Given the description of an element on the screen output the (x, y) to click on. 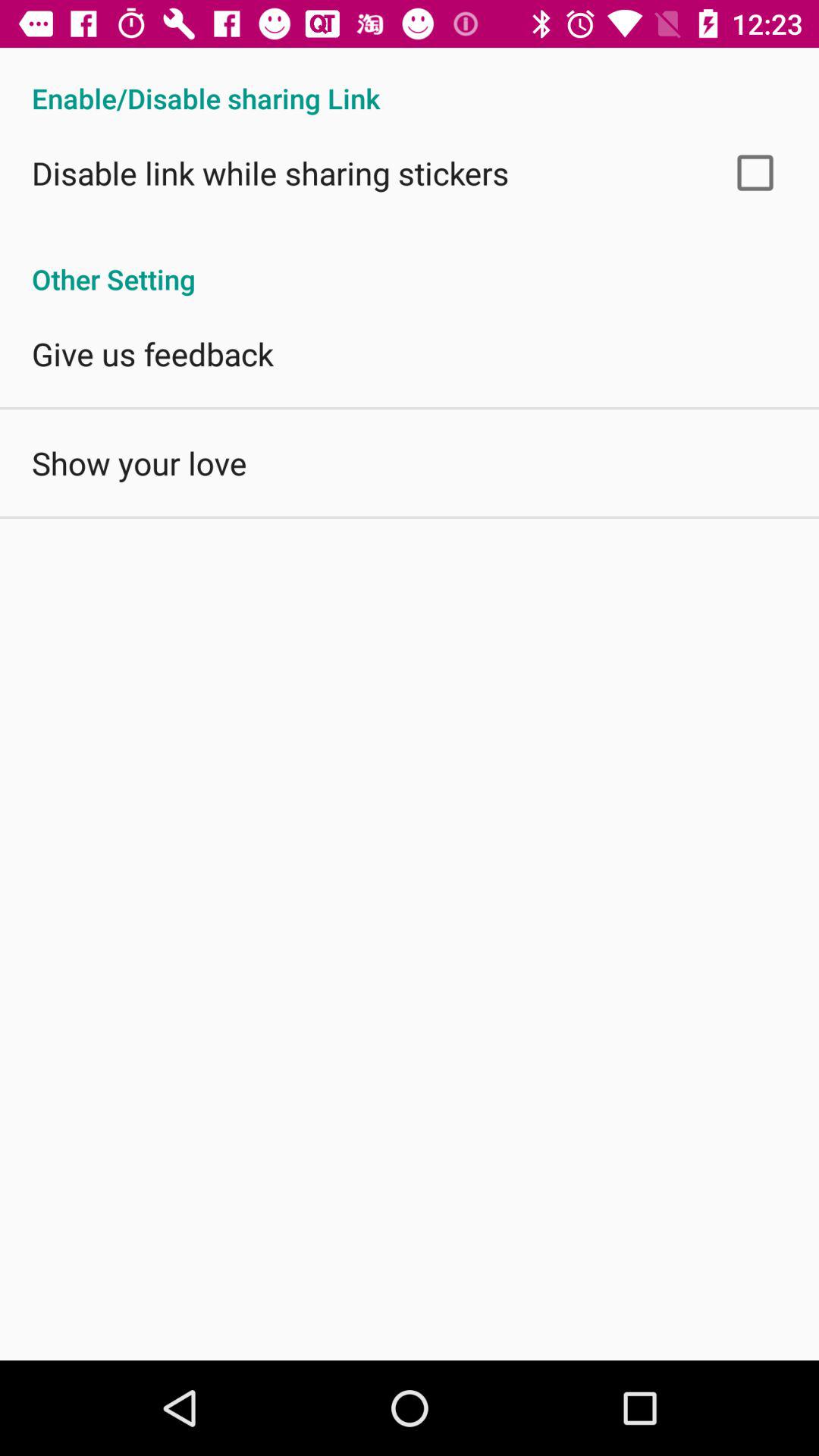
tap item to the right of disable link while icon (755, 172)
